Given the description of an element on the screen output the (x, y) to click on. 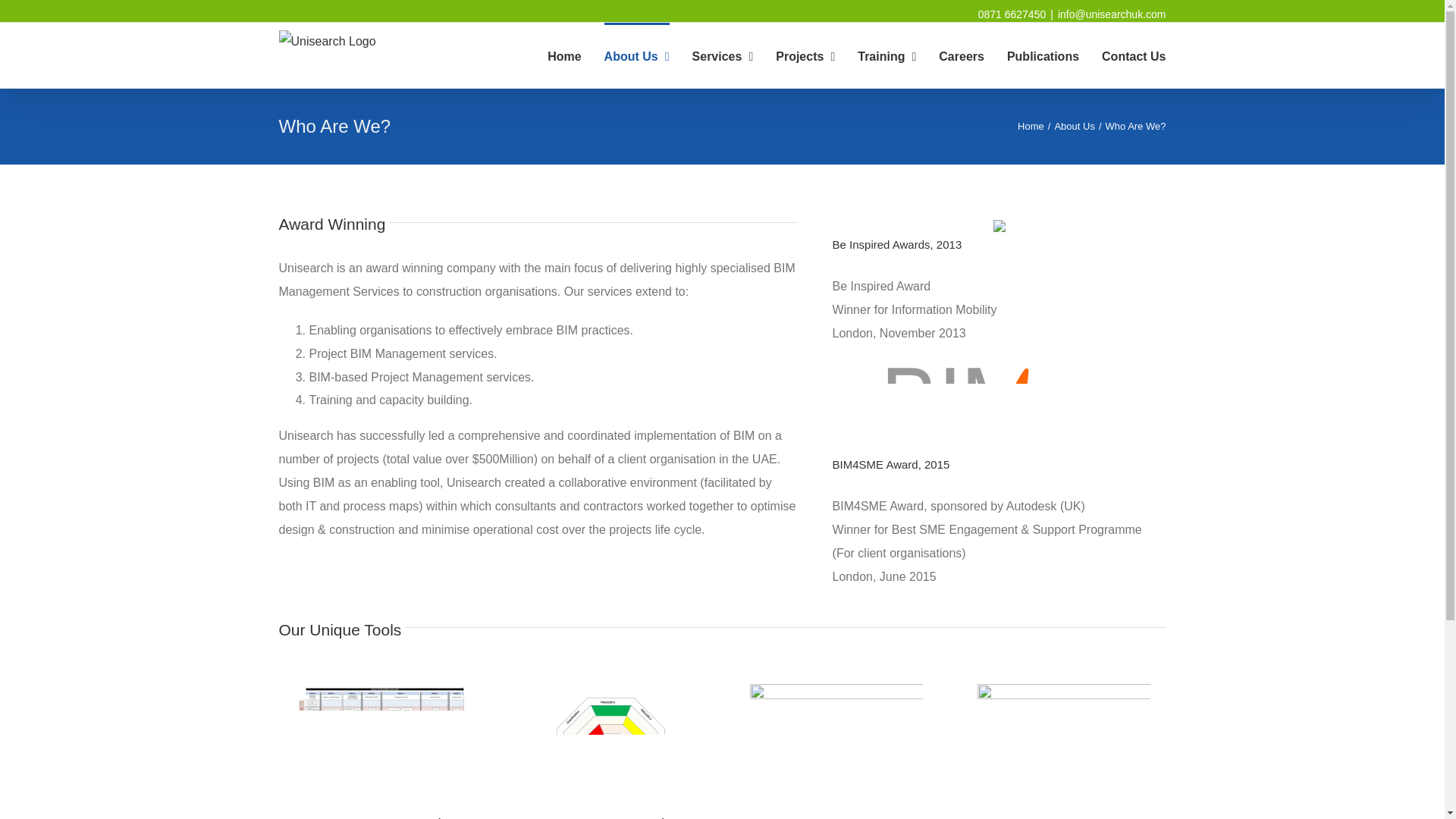
Home (1030, 125)
About Us (1074, 125)
About Us (636, 54)
Projects (805, 54)
Contact Us (1134, 54)
Publications (1042, 54)
Training (886, 54)
Services (723, 54)
